Given the description of an element on the screen output the (x, y) to click on. 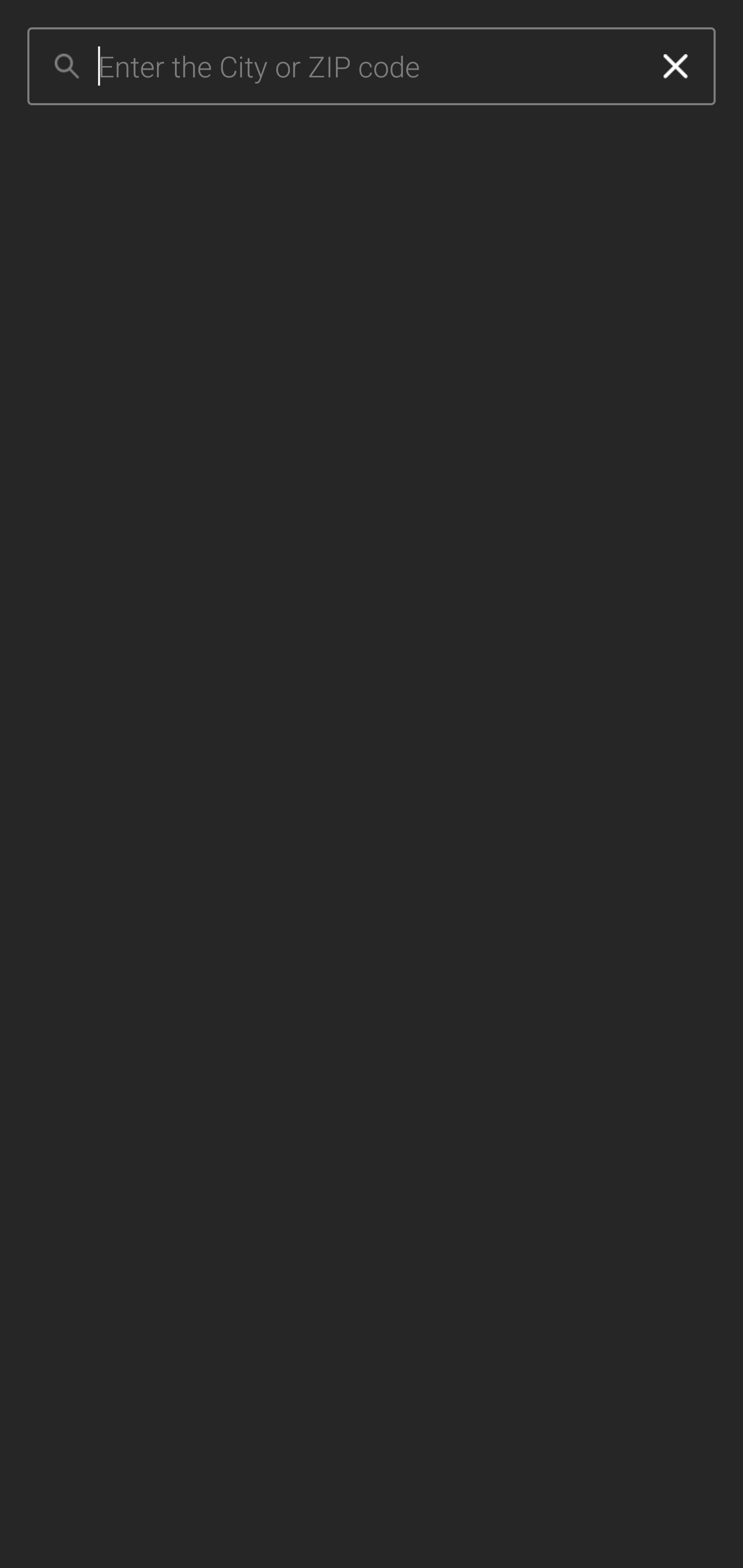
Enter the City or ZIP code (367, 66)
